Given the description of an element on the screen output the (x, y) to click on. 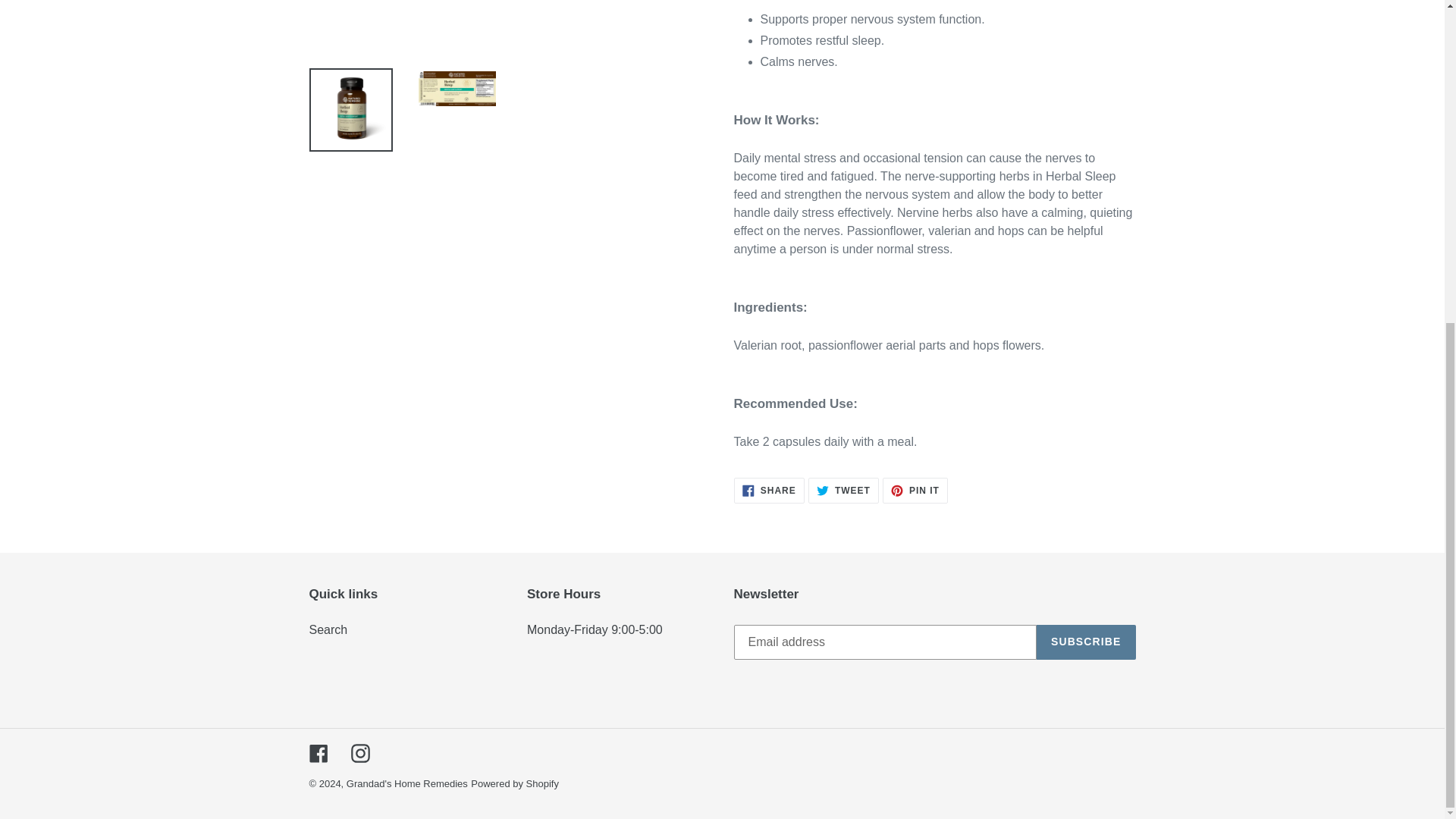
Search (327, 629)
SUBSCRIBE (843, 490)
Powered by Shopify (769, 490)
Facebook (1085, 642)
Grandad's Home Remedies (514, 783)
Instagram (914, 490)
